Given the description of an element on the screen output the (x, y) to click on. 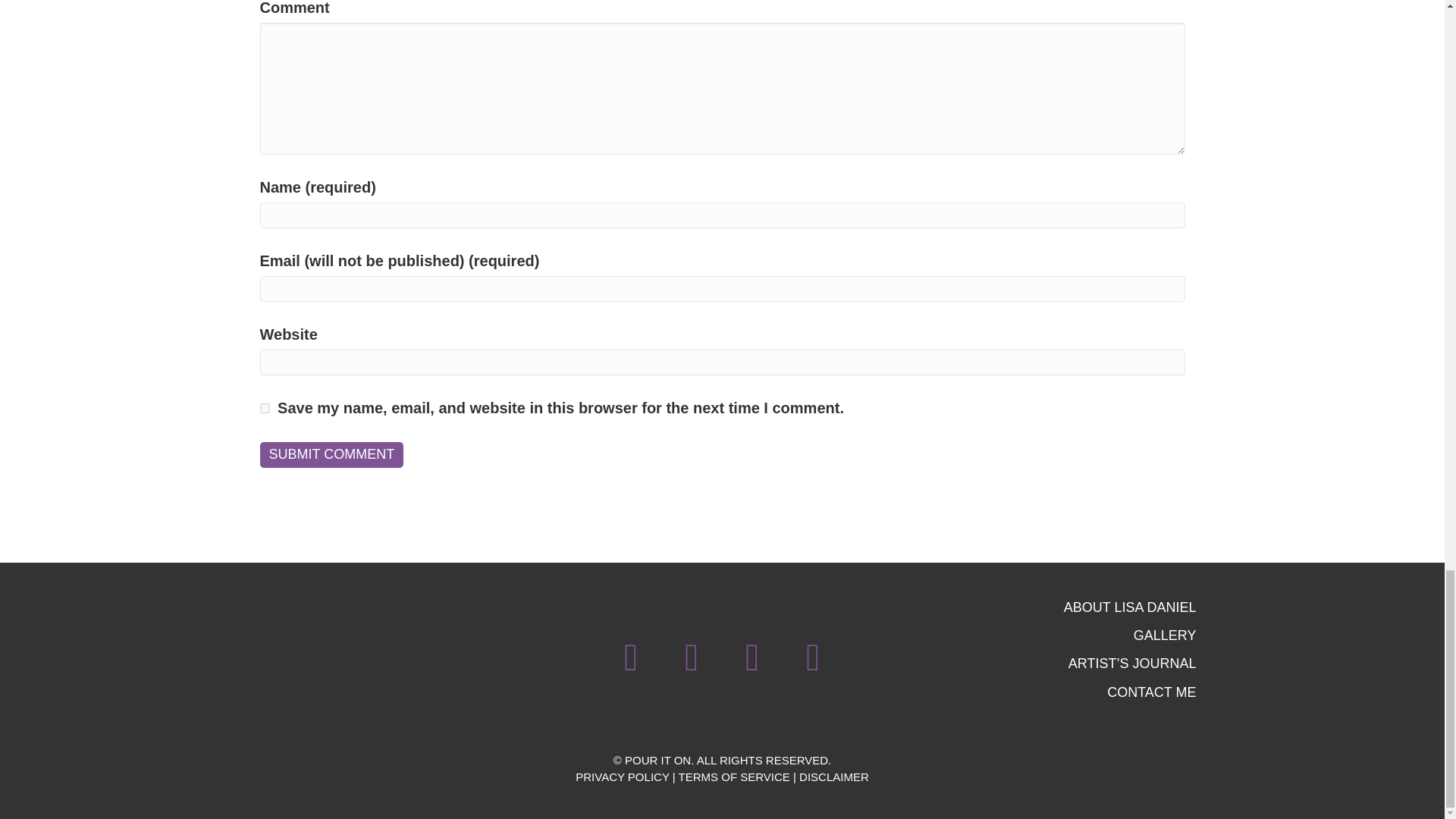
CONTACT ME (1050, 691)
PRIVACY POLICY (621, 776)
Submit Comment (331, 454)
DISCLAIMER (834, 776)
Submit Comment (331, 454)
Poriton-Bucket-1 (301, 657)
YouTube (813, 656)
yes (264, 408)
ABOUT LISA DANIEL (1050, 606)
TERMS OF SERVICE (734, 776)
Facebook (631, 656)
GALLERY (1050, 635)
Instagram (691, 656)
LinkedIn (751, 656)
